Given the description of an element on the screen output the (x, y) to click on. 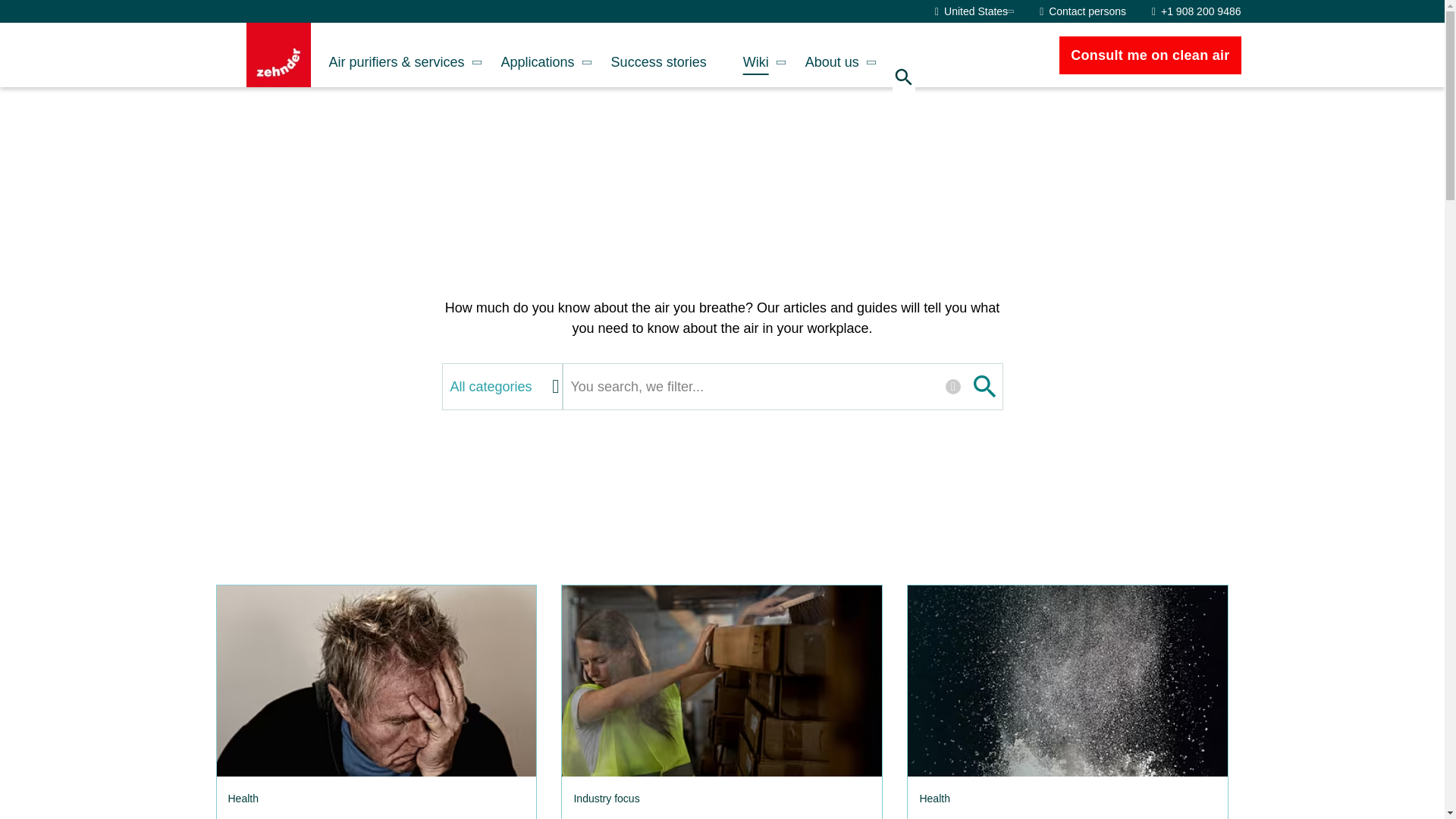
Success stories (658, 54)
About us (832, 54)
Contact persons (1082, 10)
Applications (537, 54)
Wiki (756, 54)
The harmful mental health effects of air pollution (375, 680)
